Given the description of an element on the screen output the (x, y) to click on. 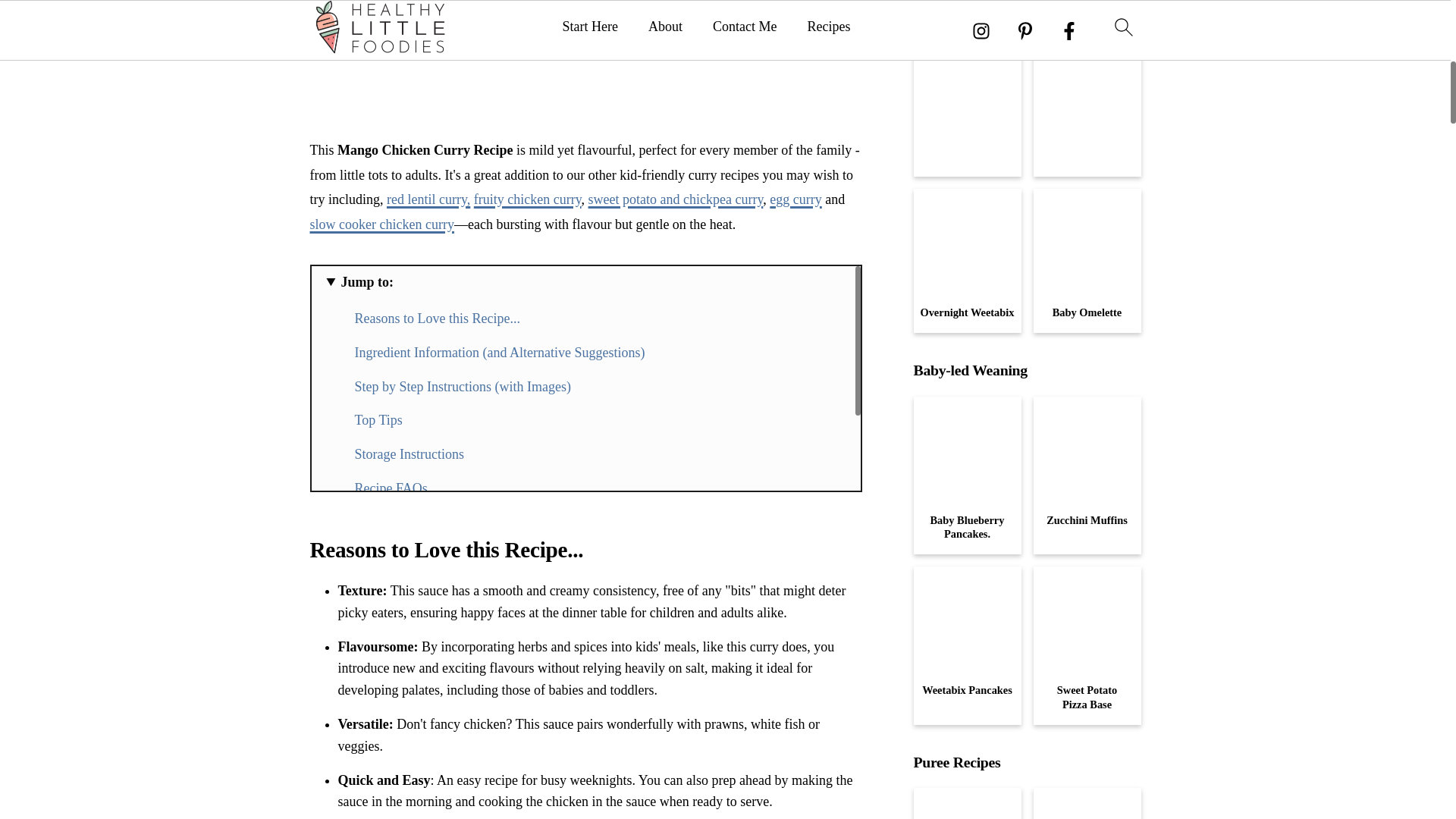
fruity chicken curry (527, 199)
red lentil curry, (428, 199)
